Given the description of an element on the screen output the (x, y) to click on. 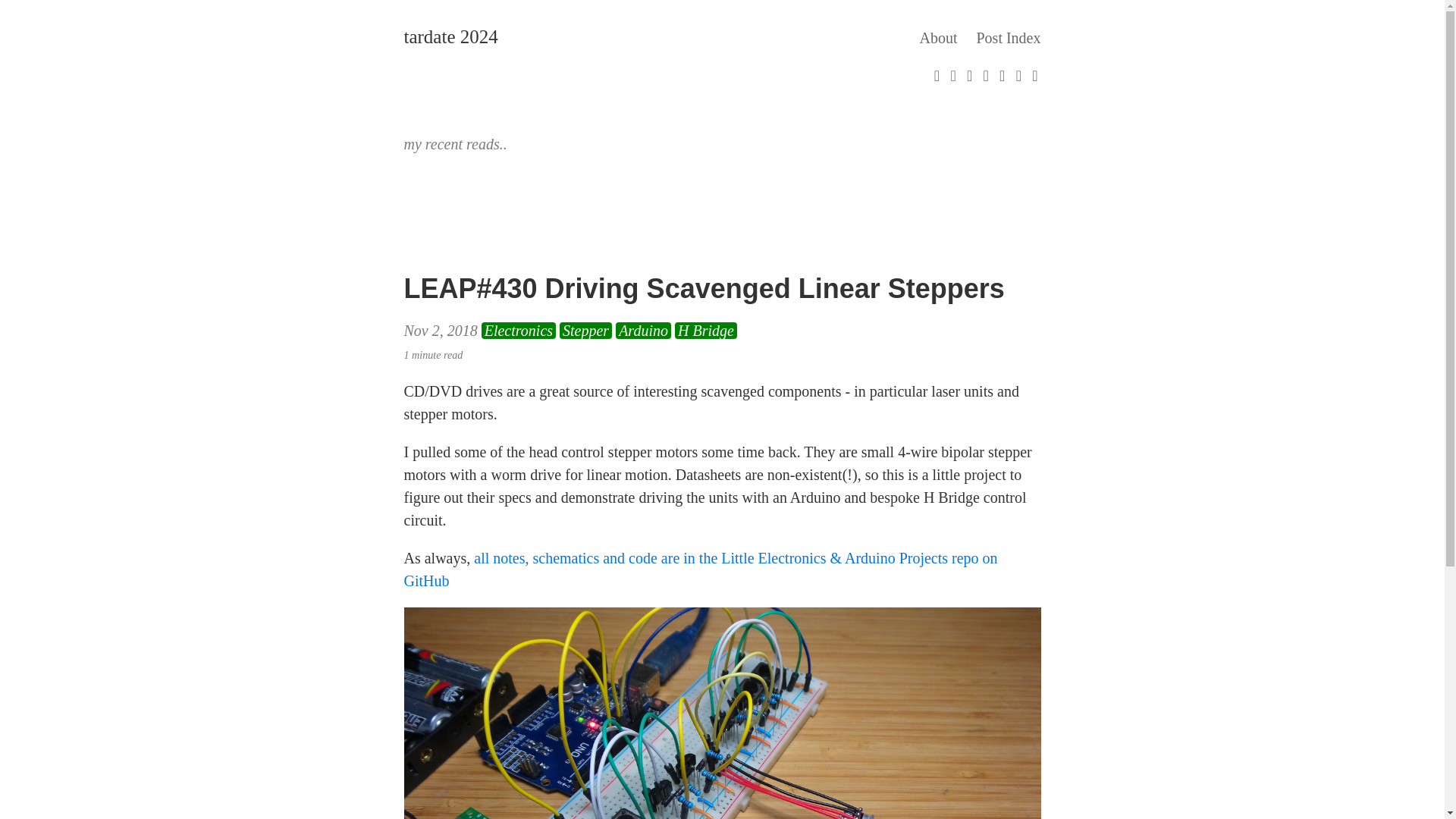
Post Index (1008, 23)
tardate 2024 (450, 22)
my recent reads.. (454, 139)
About (937, 23)
